Given the description of an element on the screen output the (x, y) to click on. 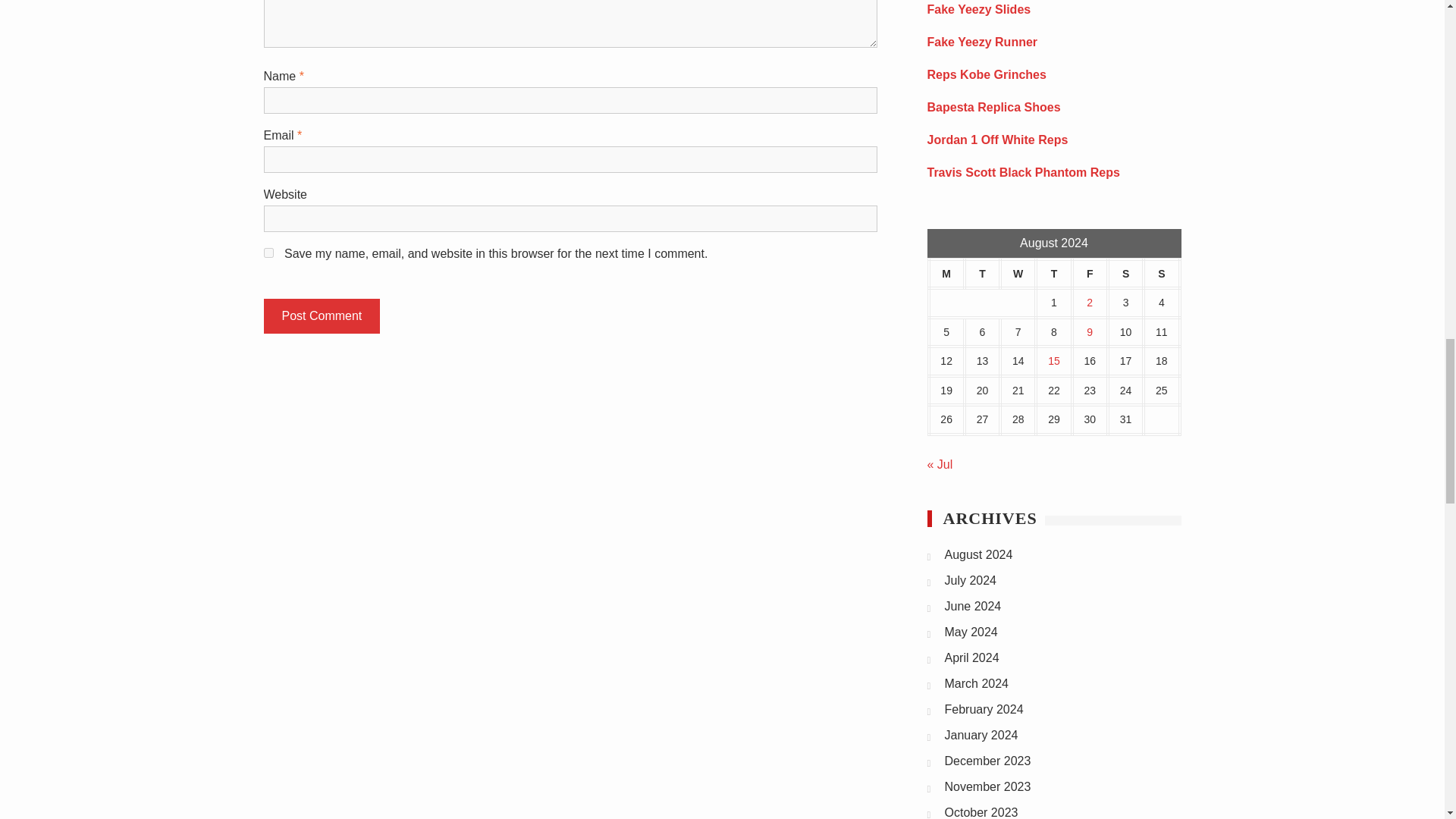
Saturday (1125, 274)
Friday (1089, 274)
Post Comment (321, 315)
Tuesday (981, 274)
Monday (945, 274)
Sunday (1160, 274)
Post Comment (321, 315)
yes (268, 252)
Wednesday (1017, 274)
Thursday (1053, 274)
